Given the description of an element on the screen output the (x, y) to click on. 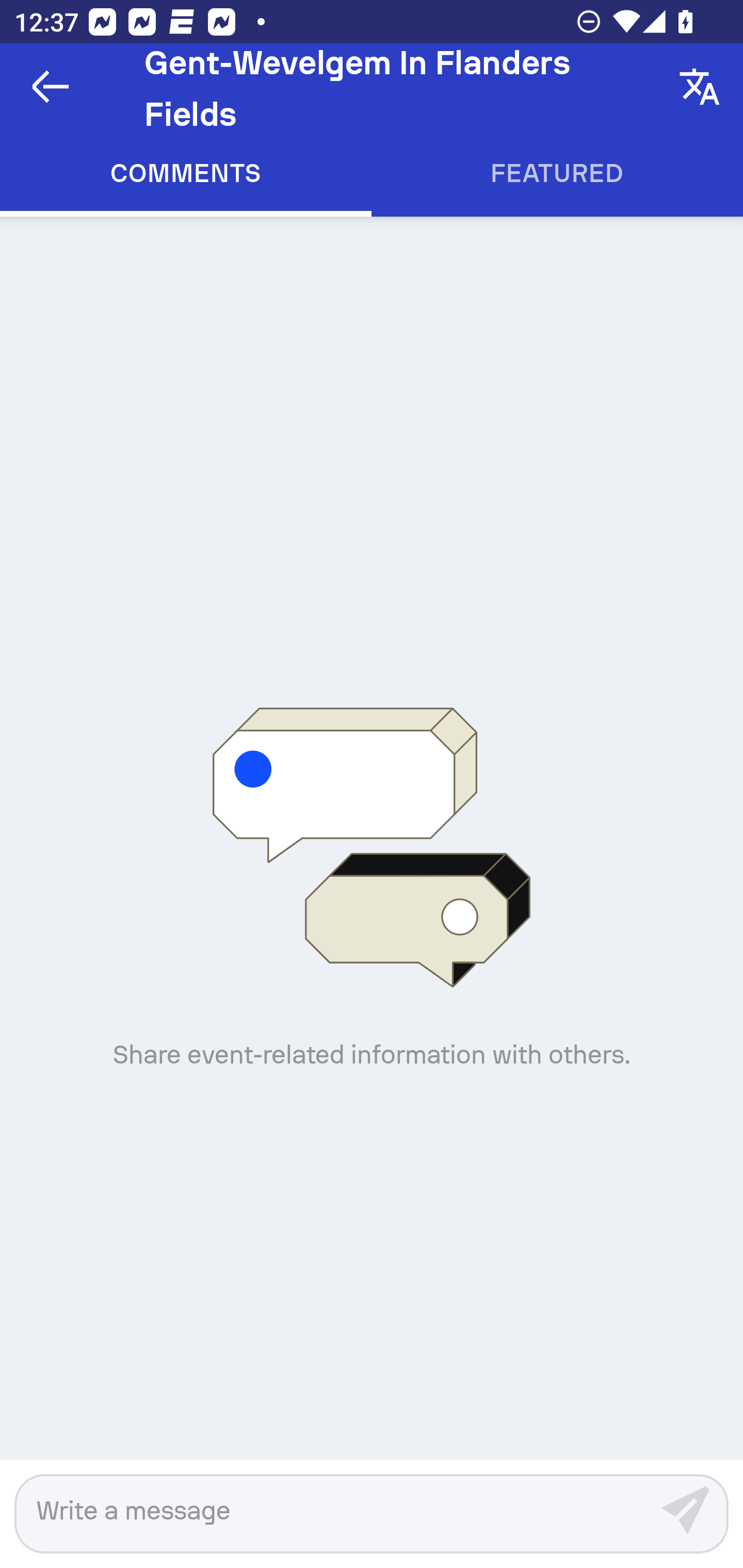
Navigate up (50, 86)
Translate (699, 86)
Featured FEATURED (557, 173)
Write a message (331, 1510)
